Given the description of an element on the screen output the (x, y) to click on. 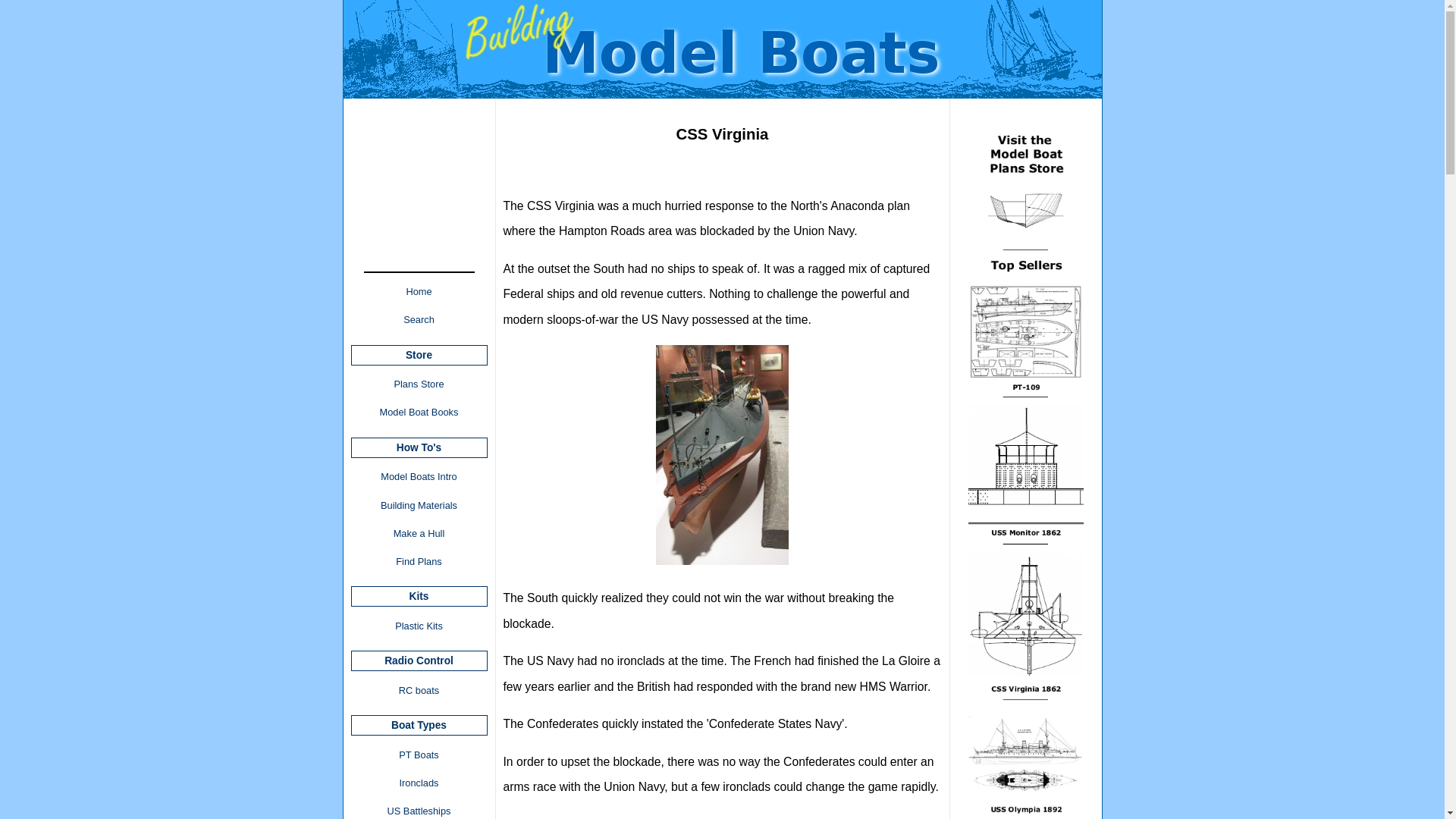
PT Boats (418, 755)
Building Materials (418, 504)
RC boats (418, 690)
Plans Store (418, 384)
Search (418, 319)
Home (418, 291)
Model Boats Intro (418, 476)
Model Boat Books (418, 411)
Plastic Kits (418, 625)
Find Plans (418, 560)
Advertisement (683, 165)
Make a Hull (418, 533)
US Battleships (418, 808)
Ironclads (418, 782)
Advertisement (418, 225)
